Given the description of an element on the screen output the (x, y) to click on. 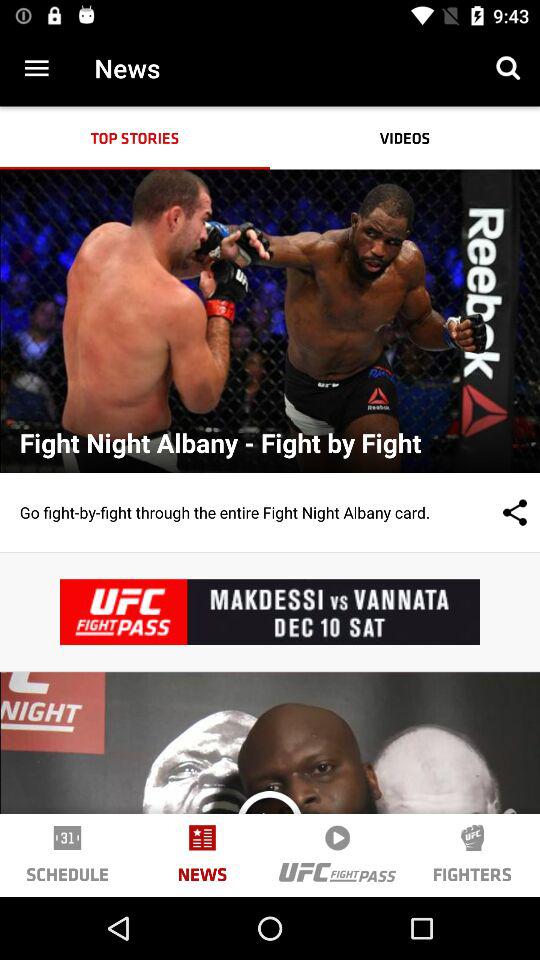
click the logo beside fighters (337, 872)
click on play icon right to news (337, 837)
click on share icon (495, 513)
